Given the description of an element on the screen output the (x, y) to click on. 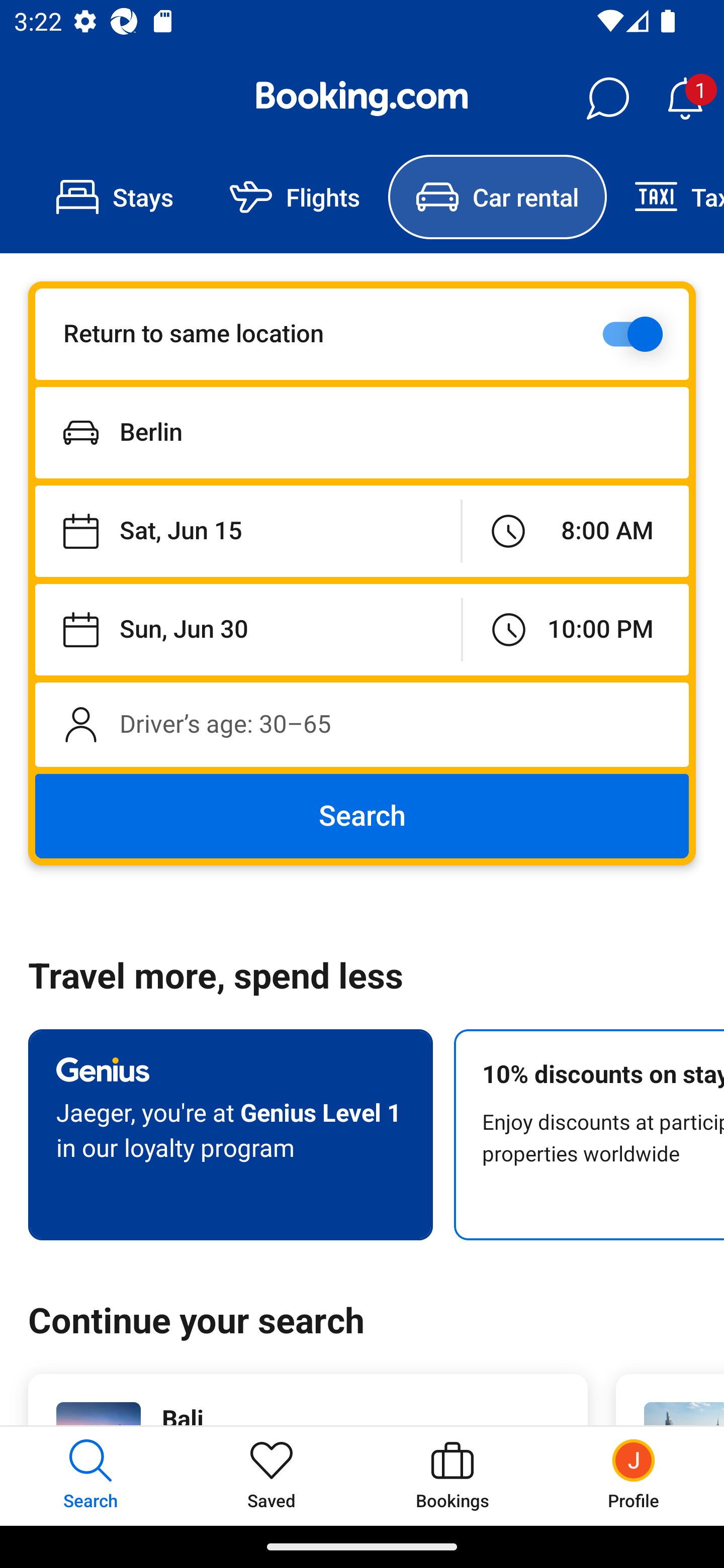
Messages (607, 98)
Notifications (685, 98)
Stays (114, 197)
Flights (294, 197)
Car rental (497, 197)
Taxi (665, 197)
Pick-up location: Text(name=Berlin) (361, 432)
Pick-up date: 2024-06-15 (247, 531)
Pick-up time: 08:00:00.000 (575, 531)
Drop-off date: 2024-06-30 (248, 629)
Drop-off time: 22:00:00.000 (575, 629)
Enter the driver's age (361, 724)
Search (361, 815)
Saved (271, 1475)
Bookings (452, 1475)
Profile (633, 1475)
